Given the description of an element on the screen output the (x, y) to click on. 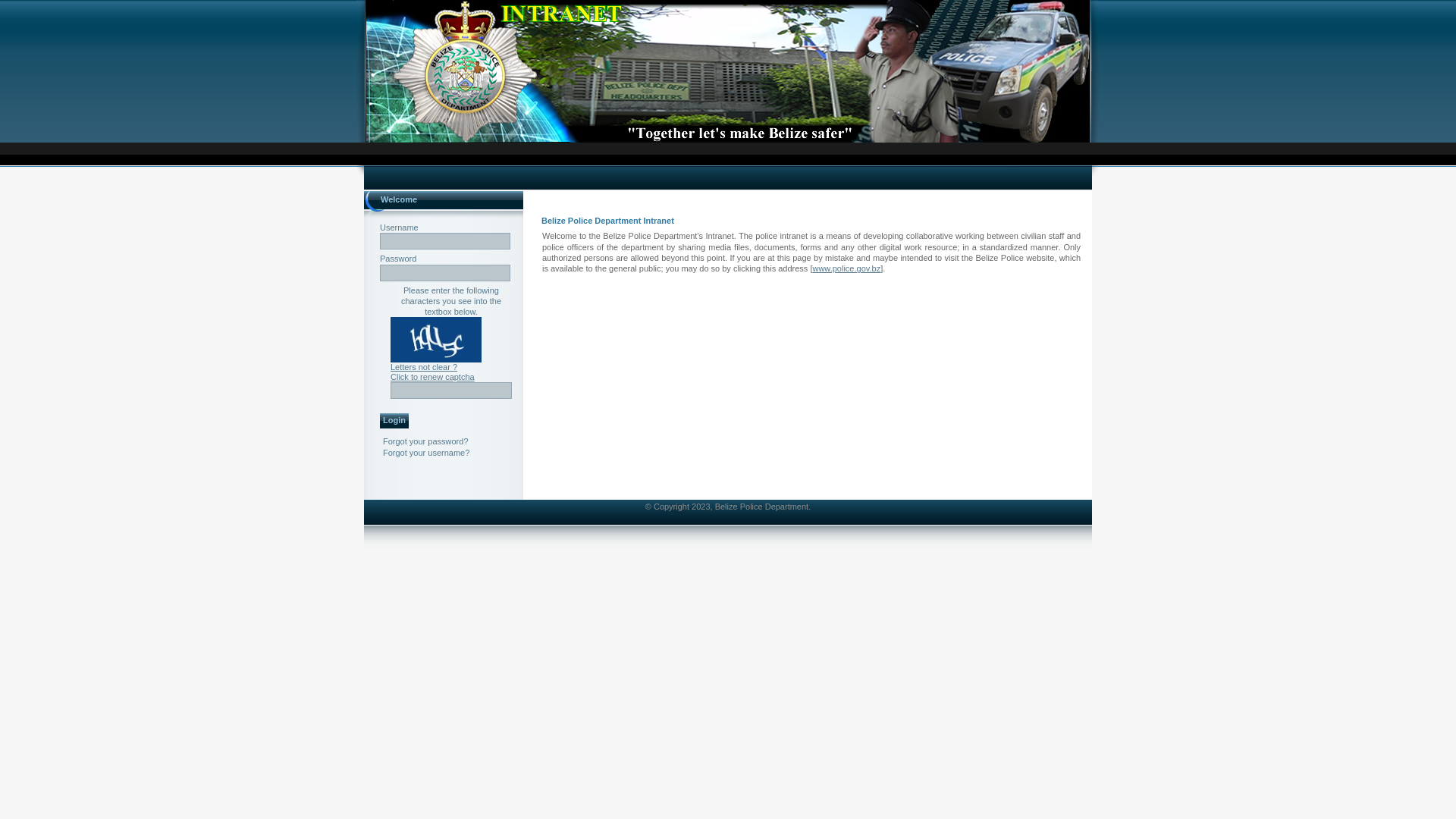
Letters not clear ?
Click to renew captcha Element type: text (432, 371)
Forgot your username? Element type: text (425, 452)
Login Element type: text (393, 420)
www.police.gov.bz Element type: text (846, 268)
Forgot your password? Element type: text (425, 440)
